Given the description of an element on the screen output the (x, y) to click on. 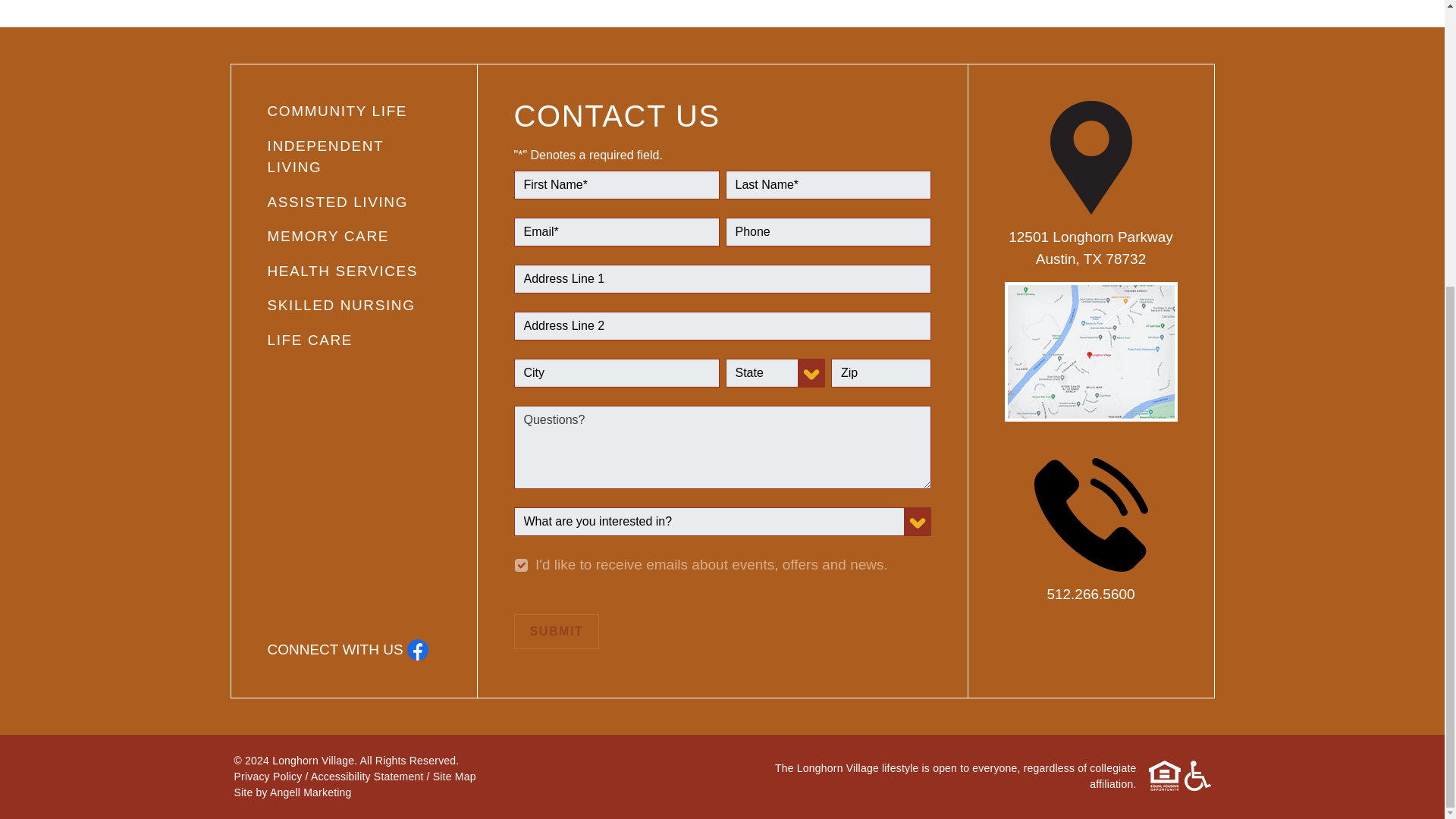
Submit (556, 630)
true (520, 564)
